Given the description of an element on the screen output the (x, y) to click on. 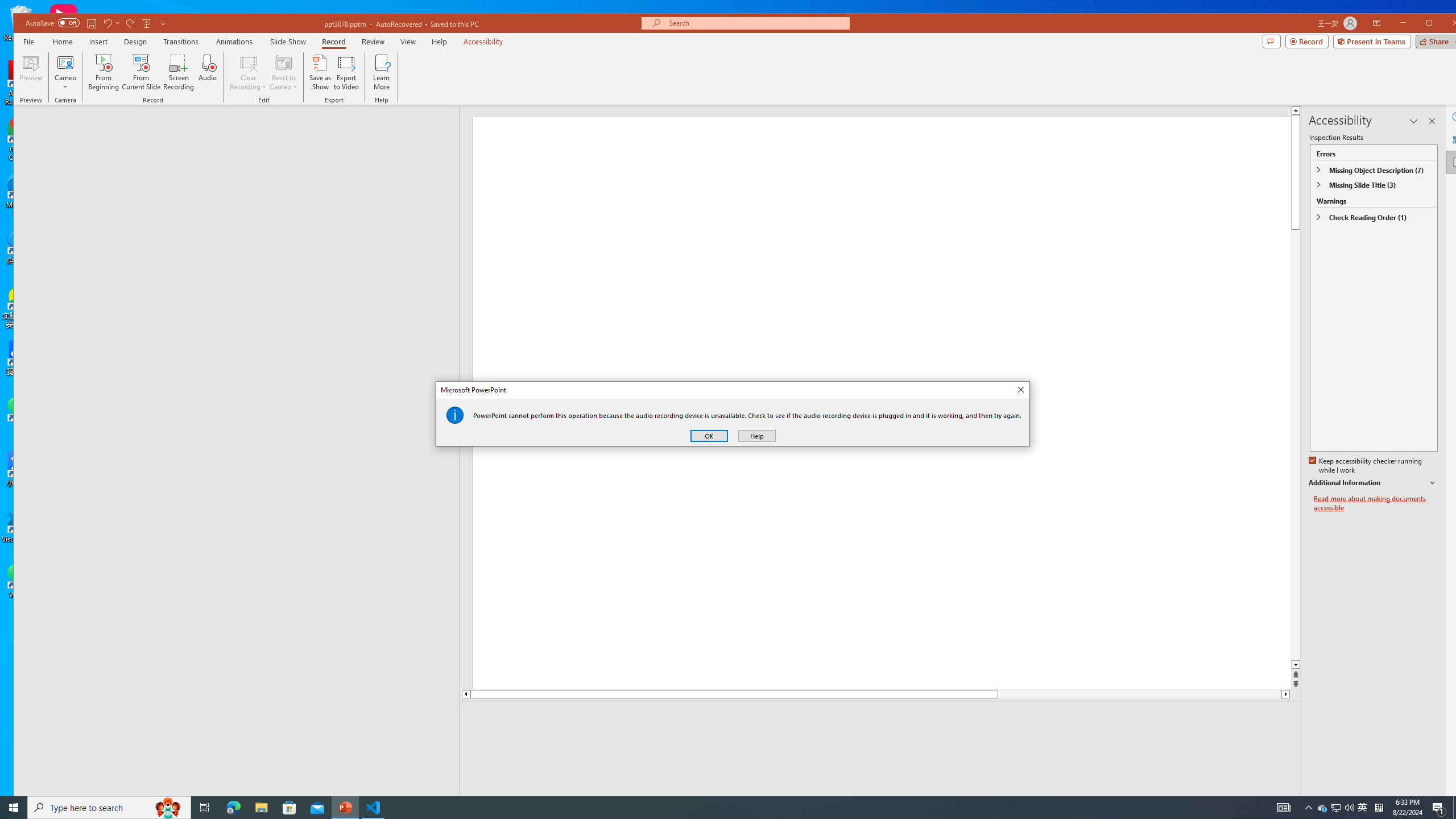
Type here to search (108, 807)
PowerPoint - 1 running window (345, 807)
From Current Slide... (140, 72)
Reset to Cameo (282, 72)
Search highlights icon opens search home window (167, 807)
